Given the description of an element on the screen output the (x, y) to click on. 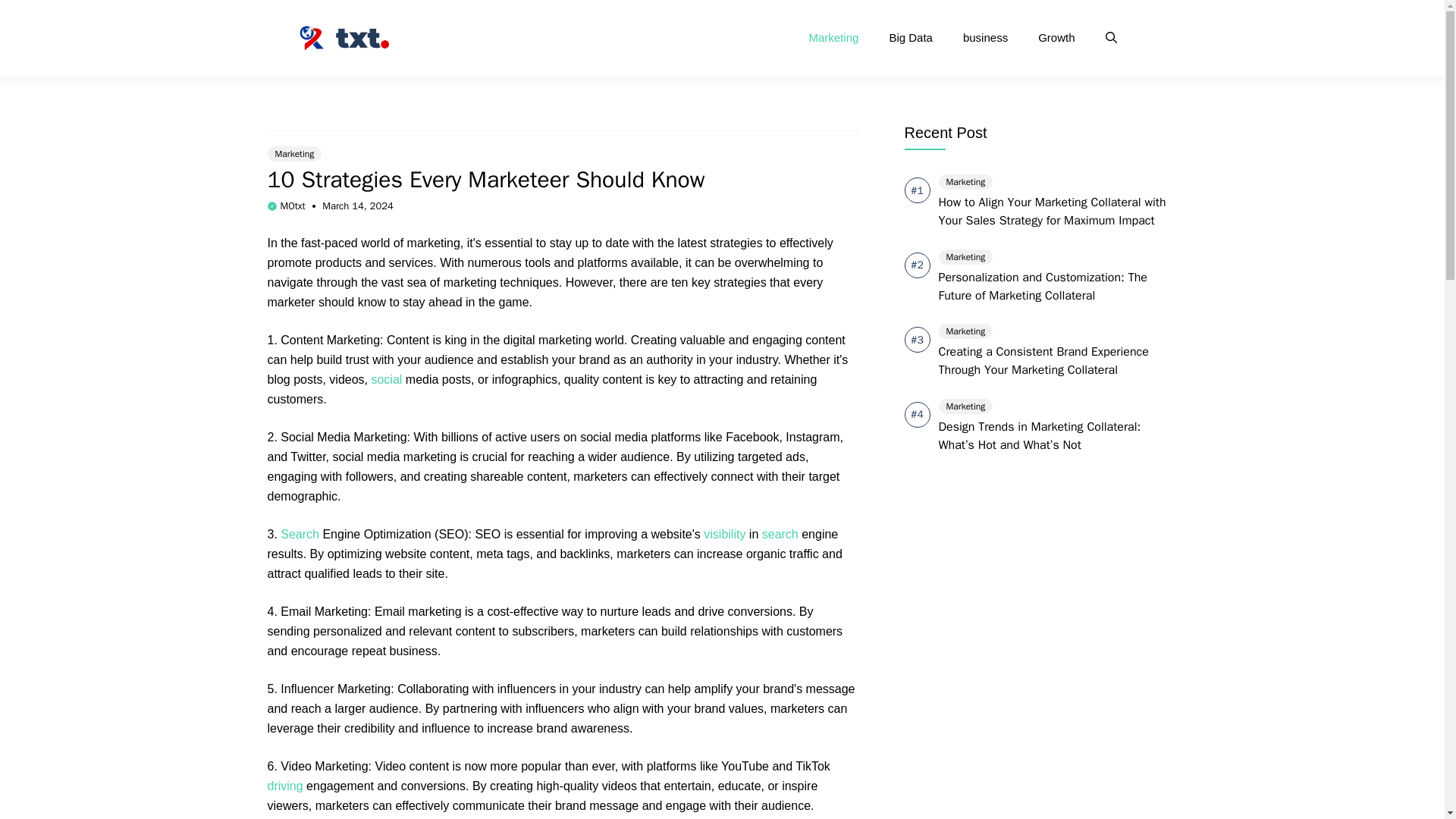
Big Data (910, 37)
techniques (528, 282)
business (985, 37)
drive (710, 611)
Growth (1056, 37)
Posts tagged with marketing (433, 242)
digital marketing (547, 339)
Posts tagged with Effective (535, 611)
MOtxt (293, 205)
marketing (433, 242)
